Given the description of an element on the screen output the (x, y) to click on. 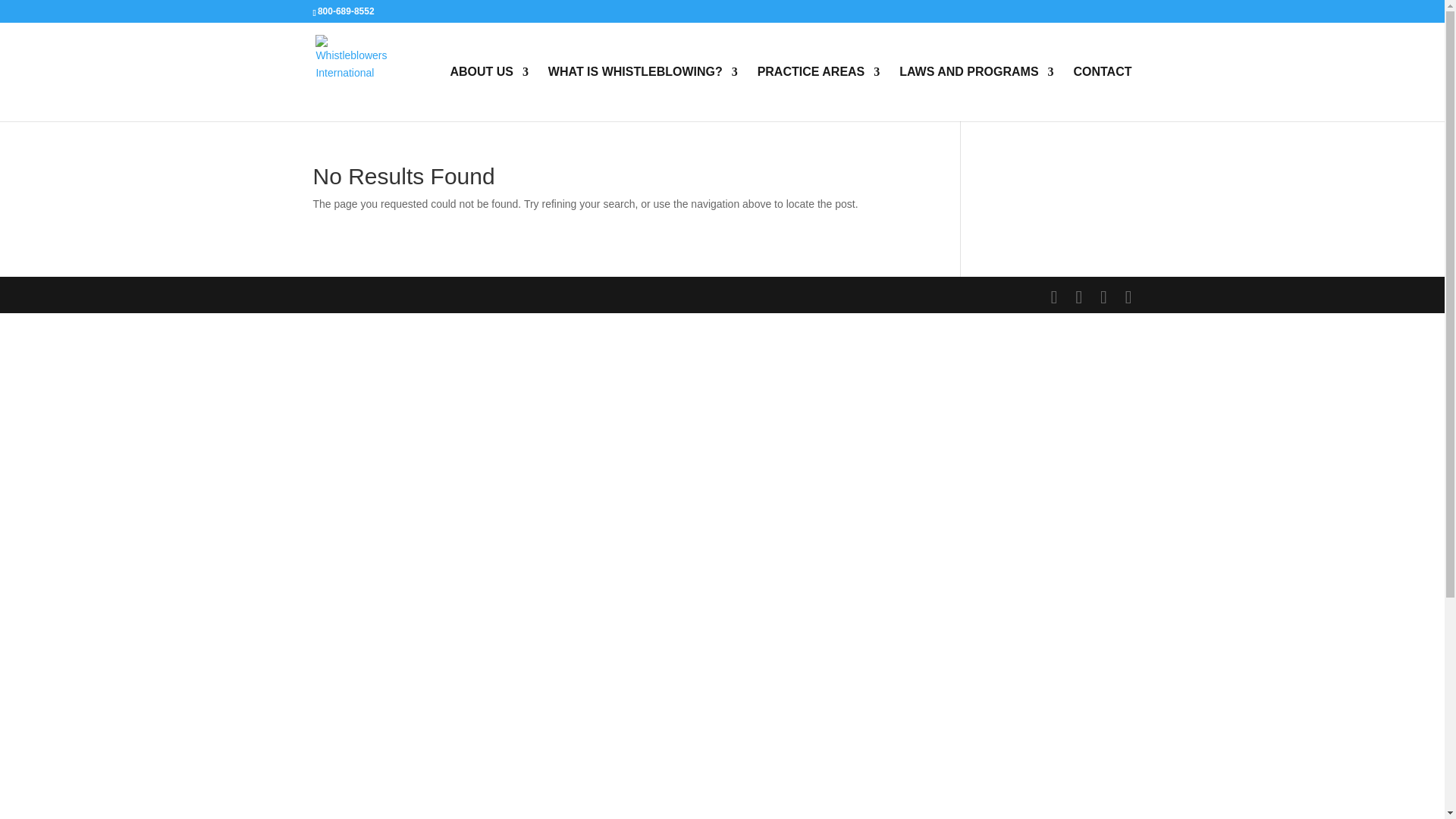
ABOUT US (488, 93)
WHAT IS WHISTLEBLOWING? (643, 93)
PRACTICE AREAS (818, 93)
LAWS AND PROGRAMS (975, 93)
